Given the description of an element on the screen output the (x, y) to click on. 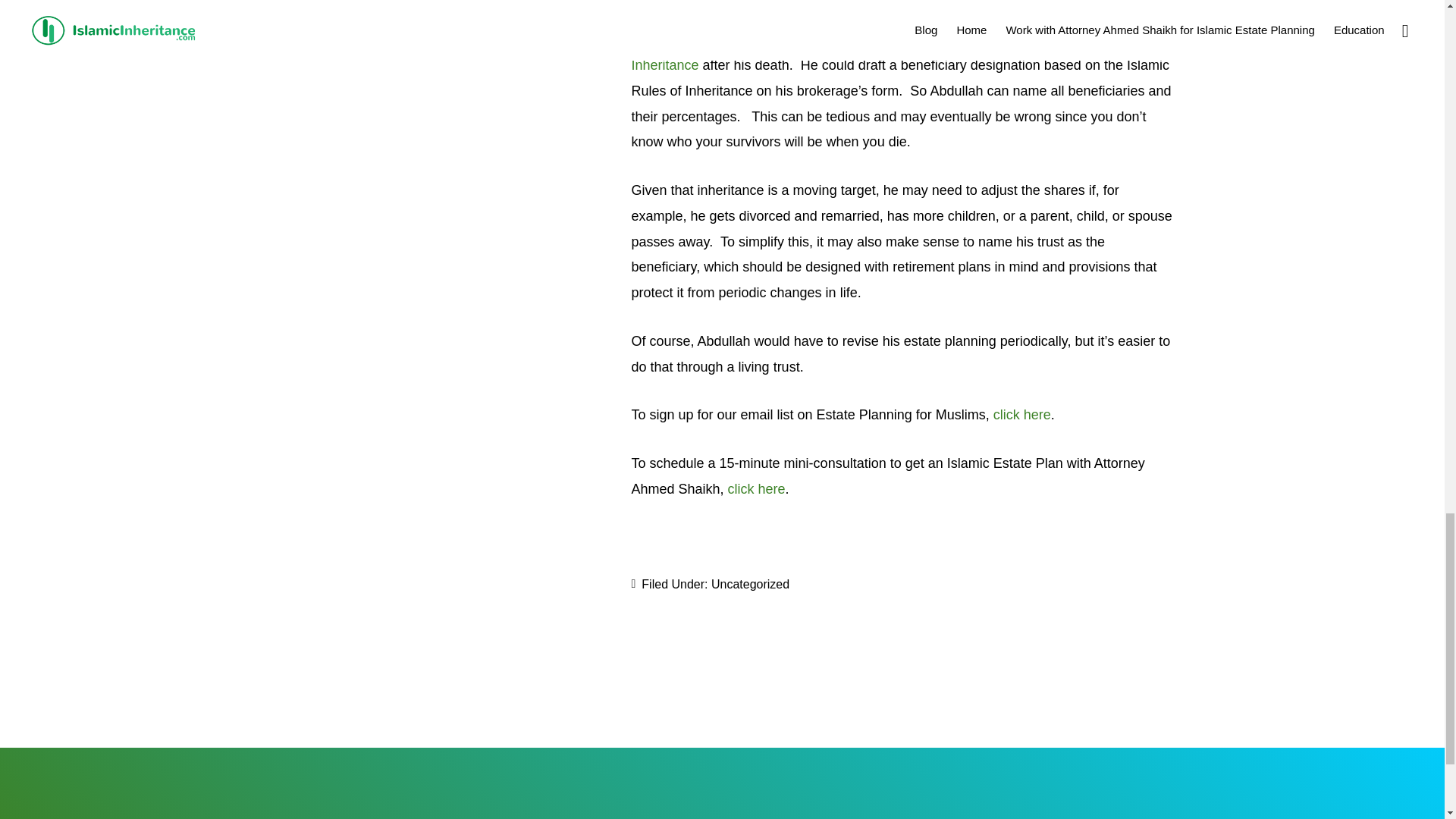
click here (757, 488)
Islamic Rules of Inheritance (888, 51)
click here (1021, 414)
Uncategorized (750, 584)
